Given the description of an element on the screen output the (x, y) to click on. 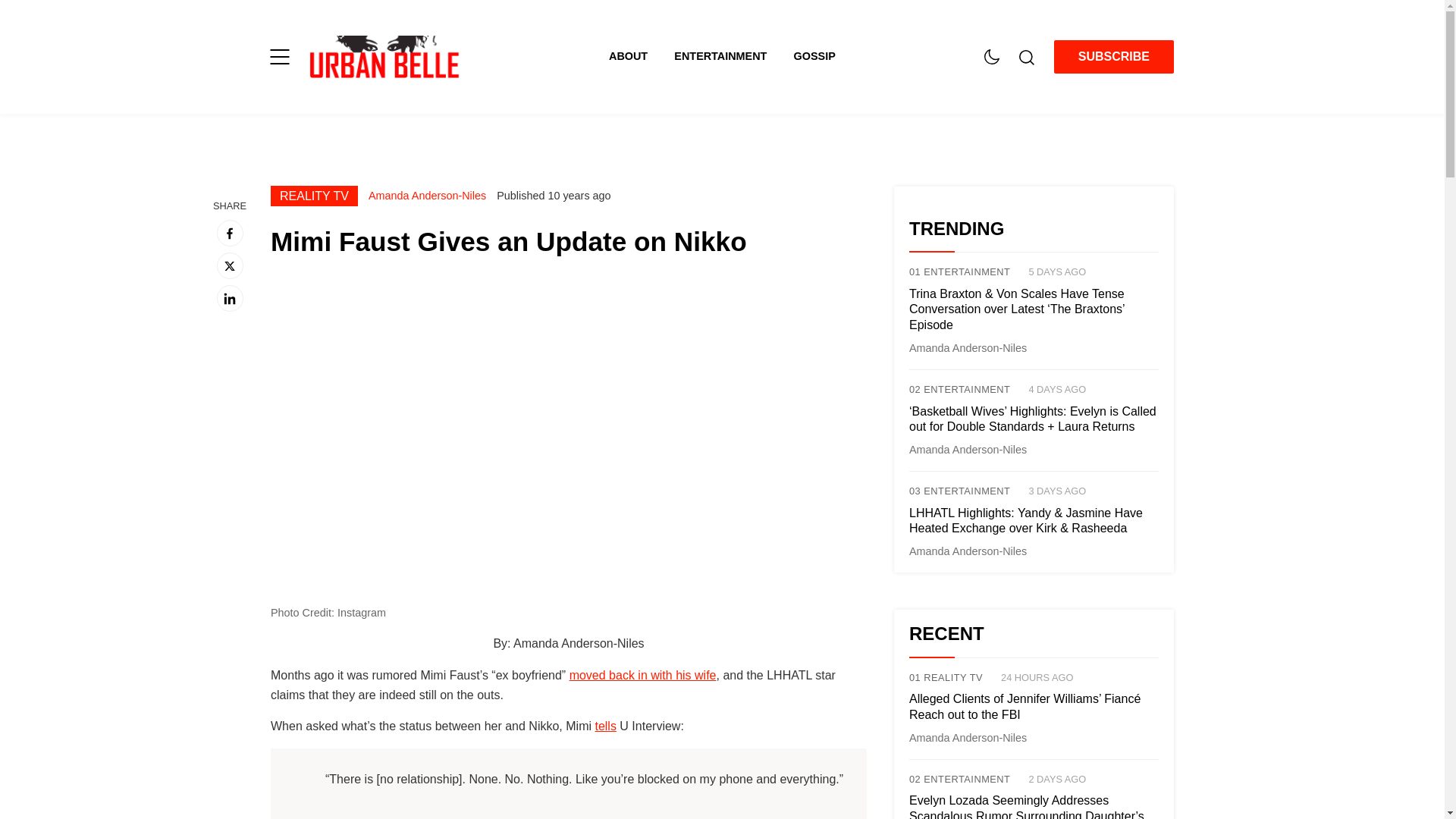
ENTERTAINMENT (733, 56)
SUBSCRIBE (1113, 56)
Posts by Amanda Anderson-Niles (967, 449)
Posts by Amanda Anderson-Niles (967, 551)
SUBSCRIBE (1113, 57)
tells (604, 725)
Navigation Toggler (279, 56)
Amanda Anderson-Niles (427, 195)
moved back in with his wife (642, 675)
ABOUT (641, 56)
